Given the description of an element on the screen output the (x, y) to click on. 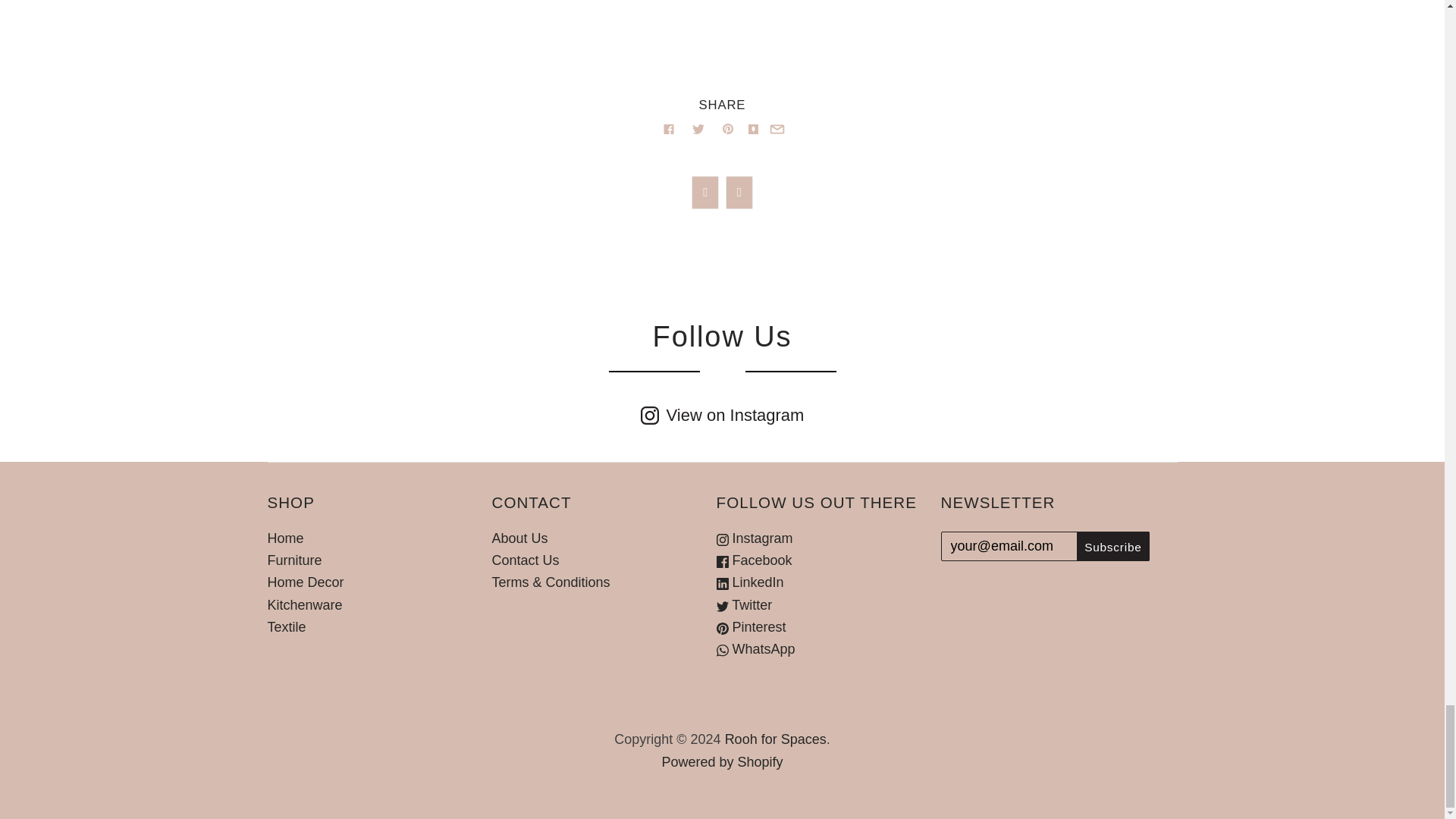
LinkedIn (750, 581)
Pinterest (751, 626)
WhatsApp (755, 648)
Facebook (754, 560)
Instagram (722, 415)
Subscribe (1112, 546)
Twitter (744, 604)
Instagram (754, 538)
